Given the description of an element on the screen output the (x, y) to click on. 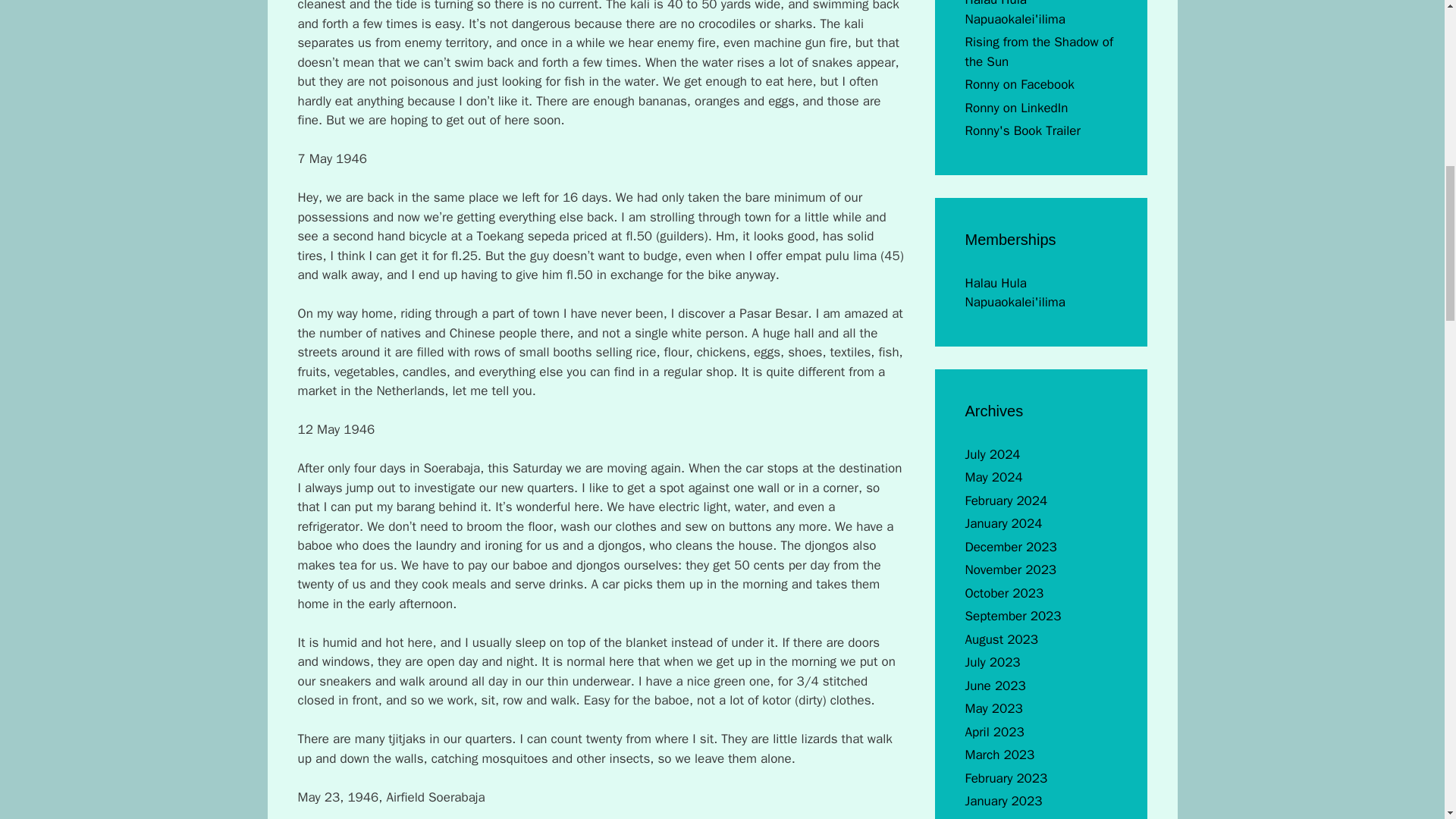
Halau Hula Napuaokalei'ilima (1013, 13)
February 2024 (1004, 500)
Ronny's Book Trailer (1021, 130)
Halau Hula Napuaokalei'ilima (1013, 293)
Ronny on Facebook (1018, 84)
Ronny on LinkedIn (1015, 107)
July 2024 (991, 454)
Rising from the Shadow of the Sun (1038, 51)
May 2024 (992, 477)
